Given the description of an element on the screen output the (x, y) to click on. 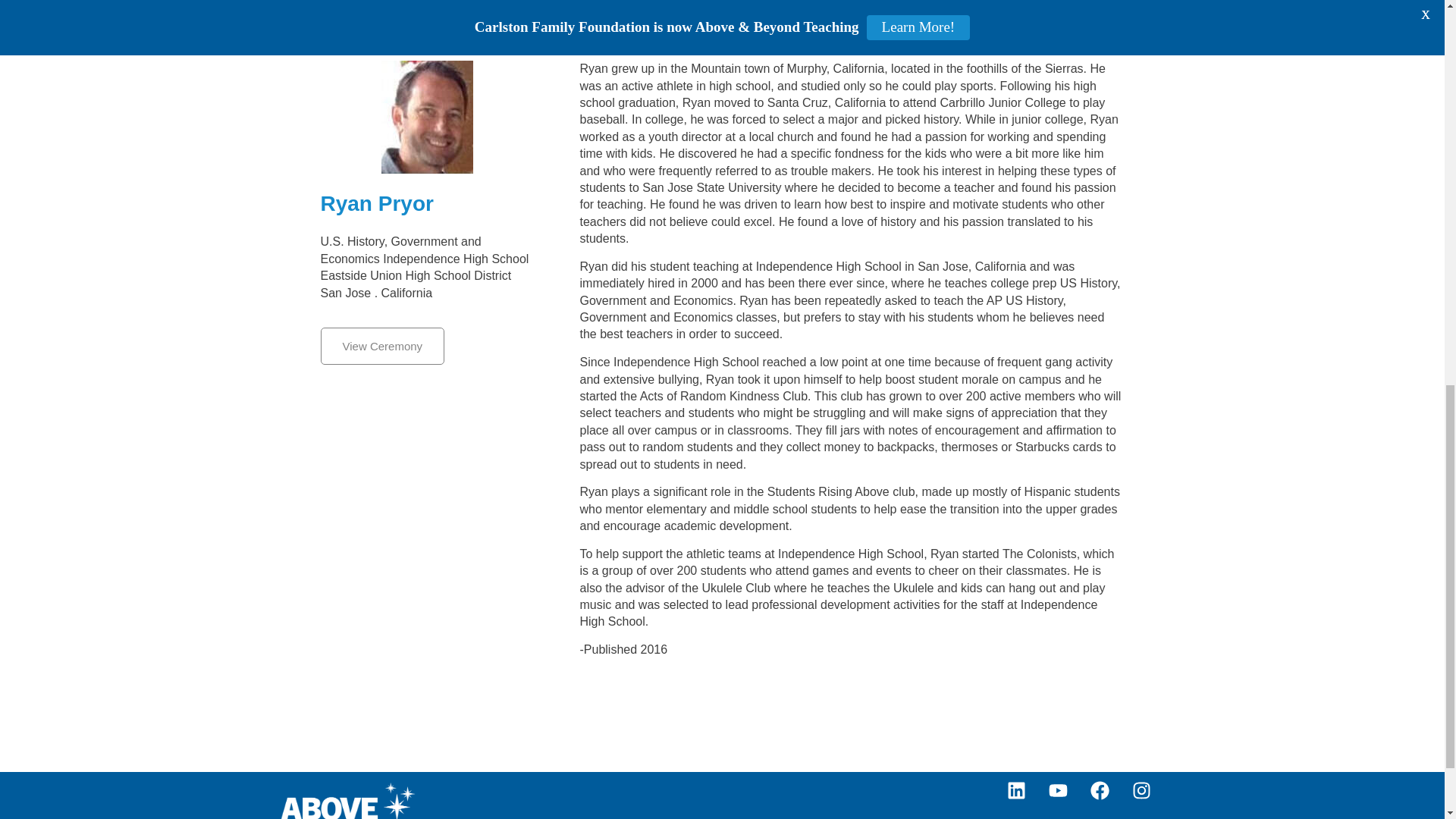
View Ceremony (382, 345)
View Ceremony (382, 345)
Ryan Pryor (427, 203)
